Given the description of an element on the screen output the (x, y) to click on. 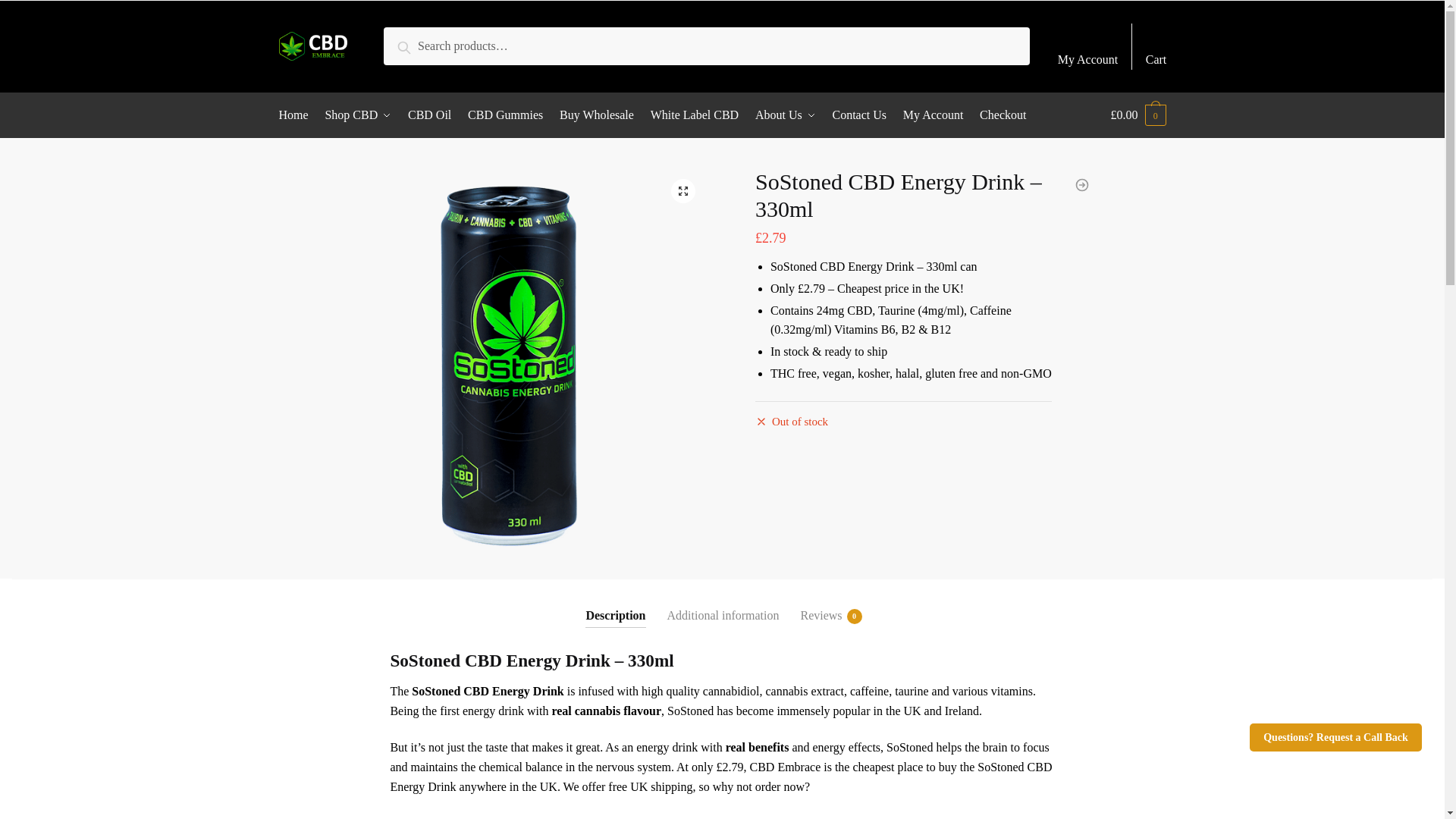
My Account (1087, 46)
CBD Oil (430, 115)
Description (615, 603)
Contact Us (858, 115)
CBD Gummies (505, 115)
Shop CBD (357, 115)
Buy Wholesale (596, 115)
Search (418, 44)
About Us (786, 115)
View your shopping cart (1137, 115)
Questions? Request a Call Back (1335, 737)
Checkout (1002, 115)
White Label CBD (693, 115)
My Account (933, 115)
